Given the description of an element on the screen output the (x, y) to click on. 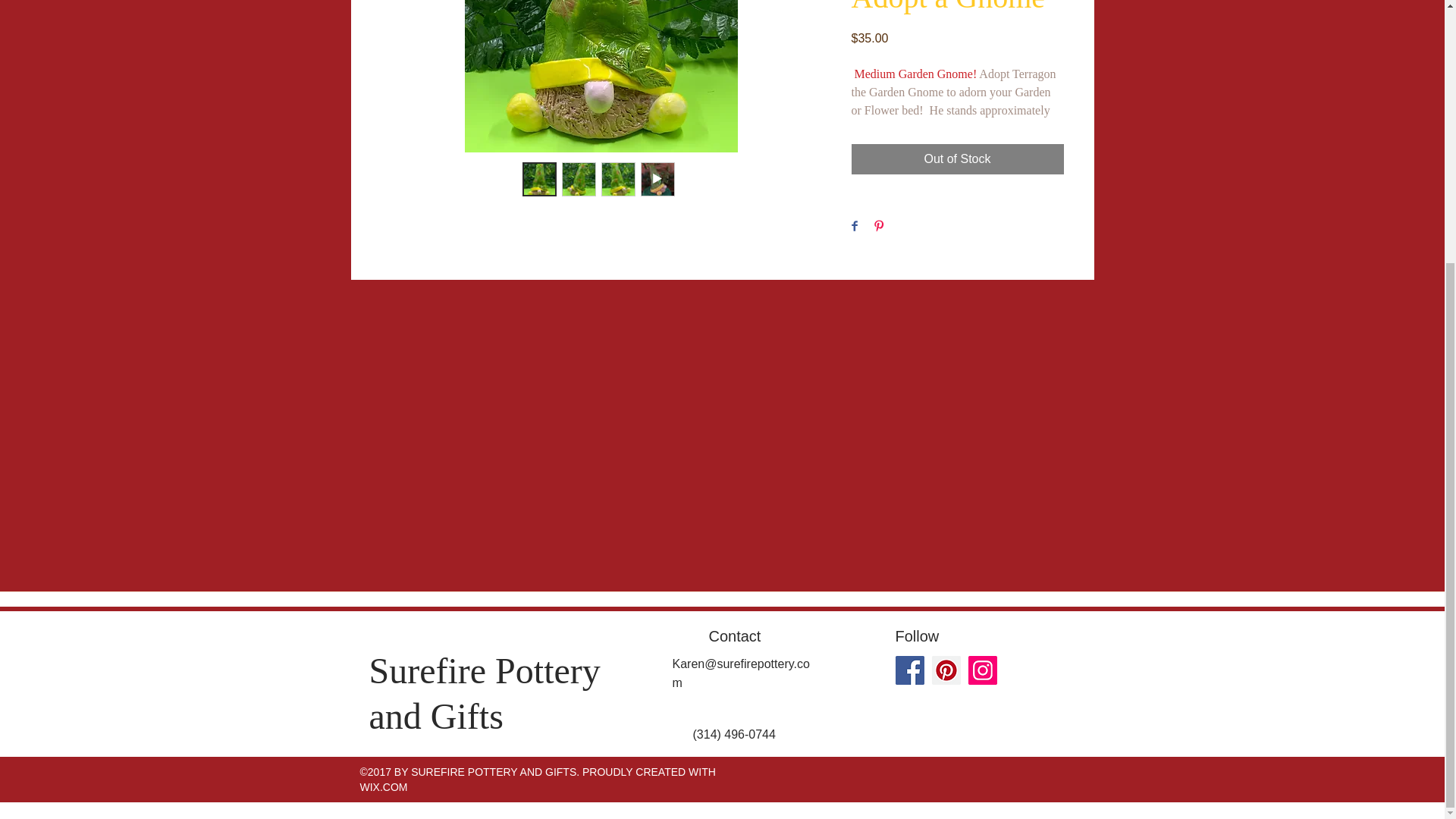
Out of Stock (956, 159)
